Given the description of an element on the screen output the (x, y) to click on. 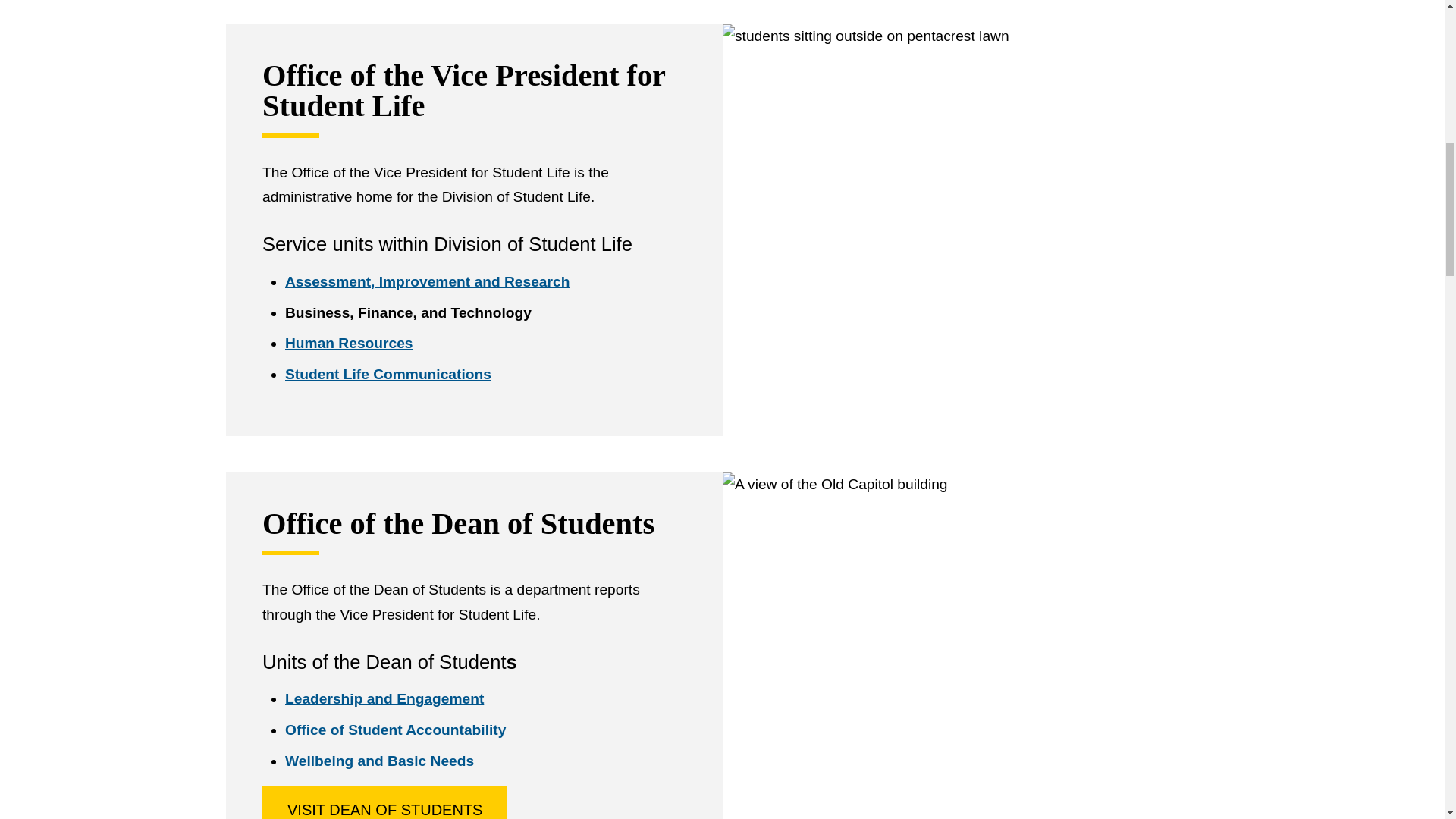
Assessment, Improvement, and Research (427, 281)
